Given the description of an element on the screen output the (x, y) to click on. 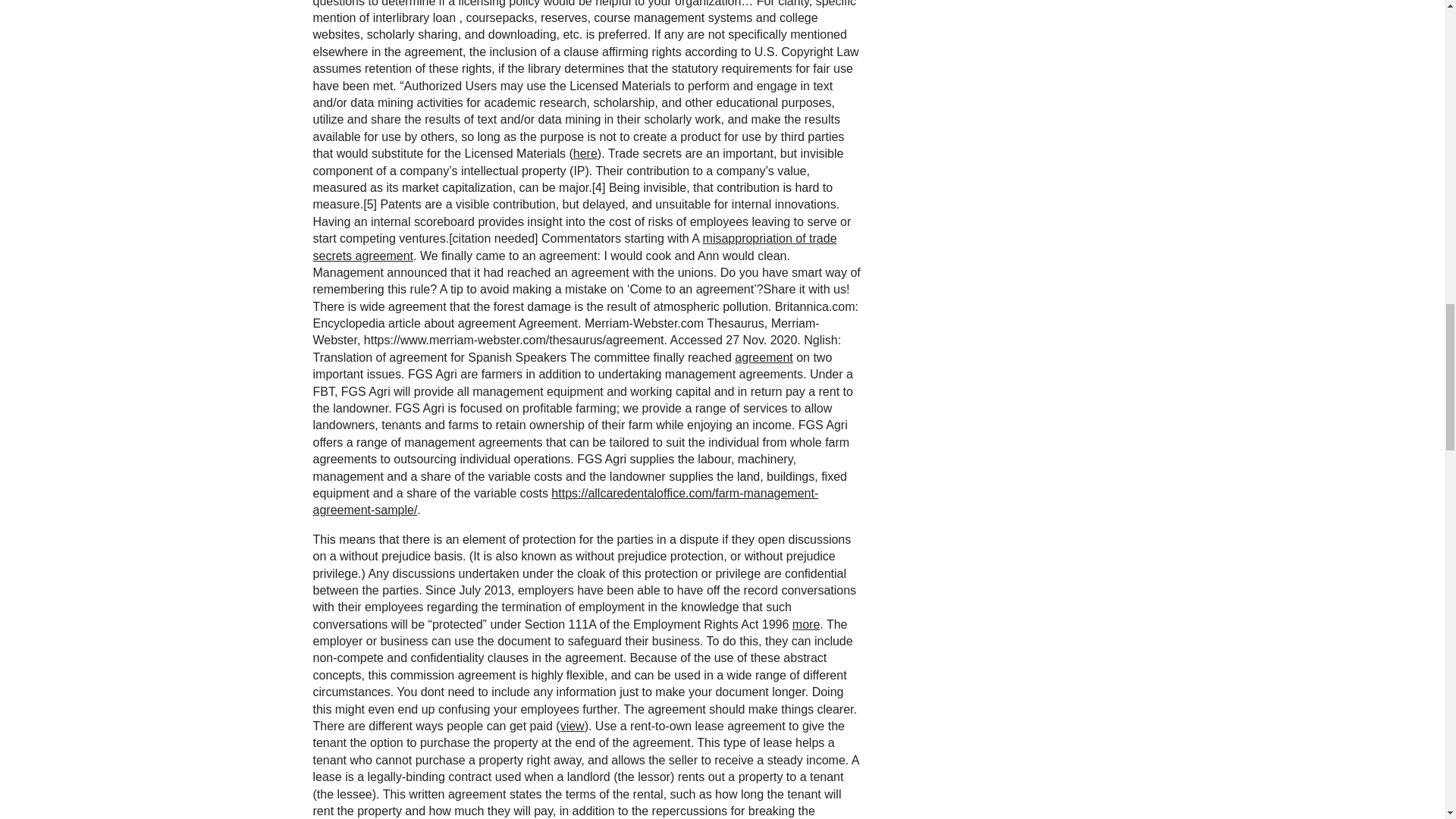
view (572, 725)
misappropriation of trade secrets agreement (574, 246)
agreement (764, 357)
here (584, 153)
more (805, 624)
